Given the description of an element on the screen output the (x, y) to click on. 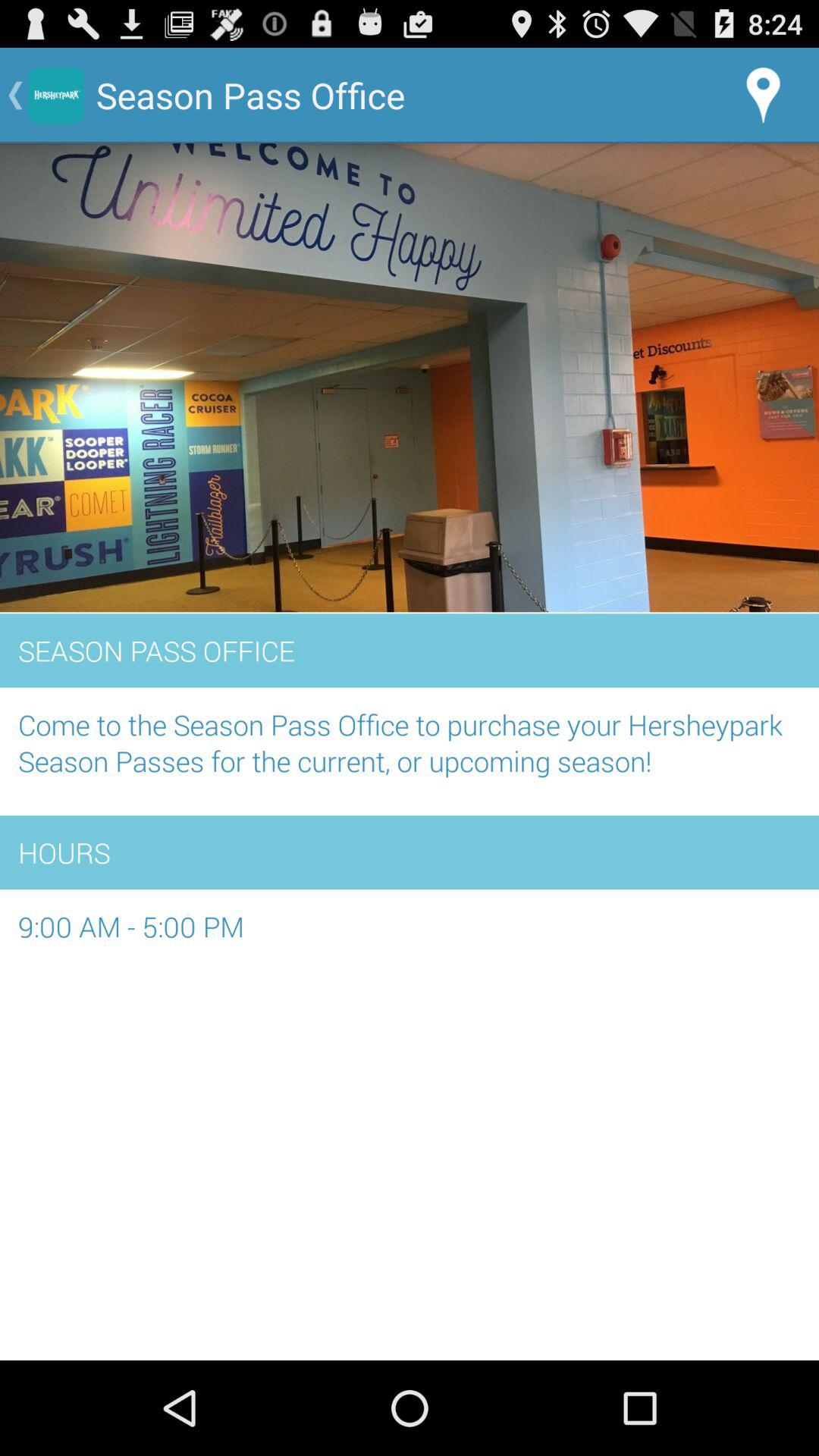
turn off the icon above season pass office item (409, 378)
